Given the description of an element on the screen output the (x, y) to click on. 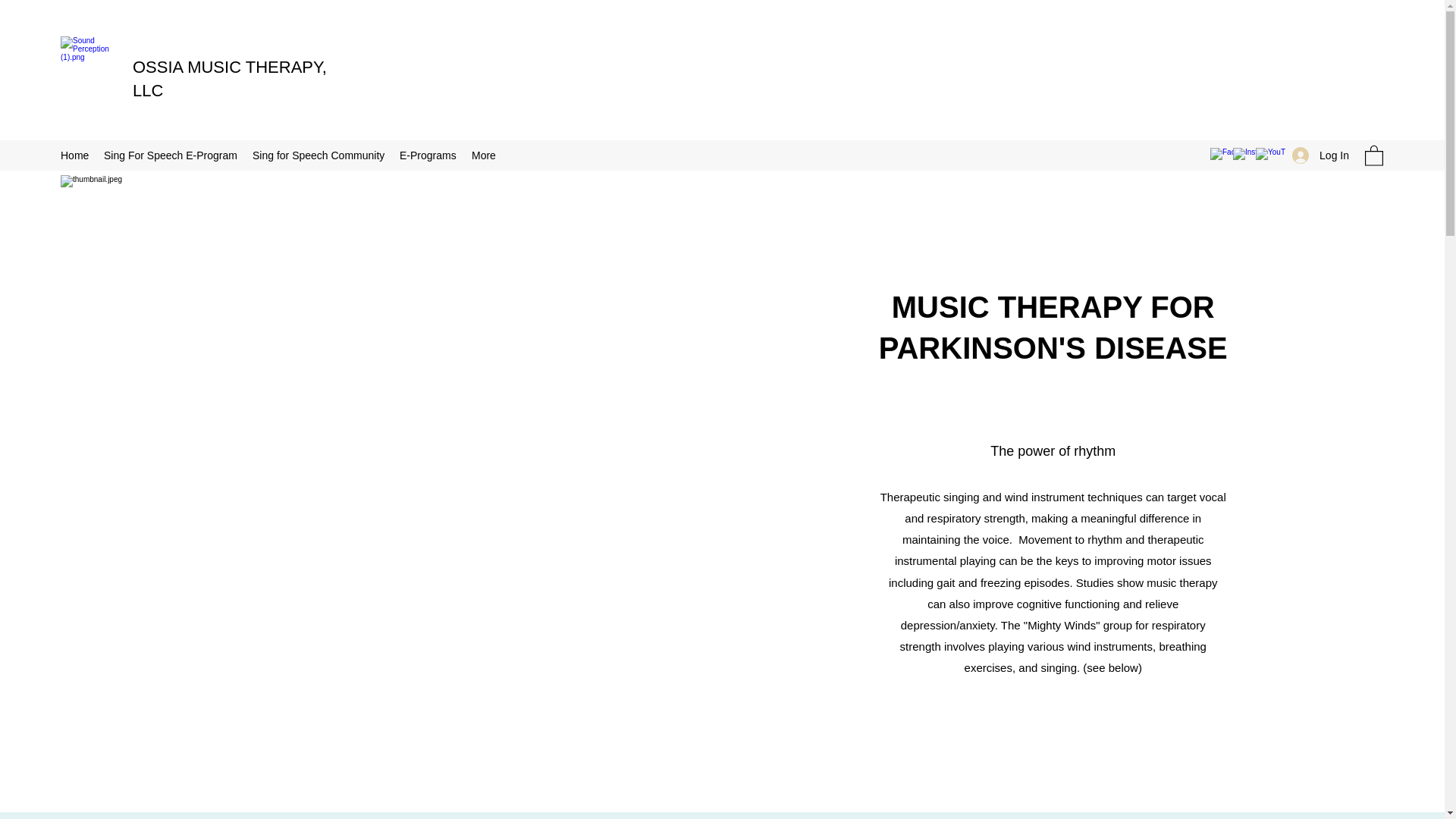
Log In (1320, 154)
E-Programs (427, 155)
Home (74, 155)
Sing For Speech E-Program (170, 155)
Sing for Speech Community (317, 155)
OSSIA MUSIC THERAPY, LLC (229, 78)
